Given the description of an element on the screen output the (x, y) to click on. 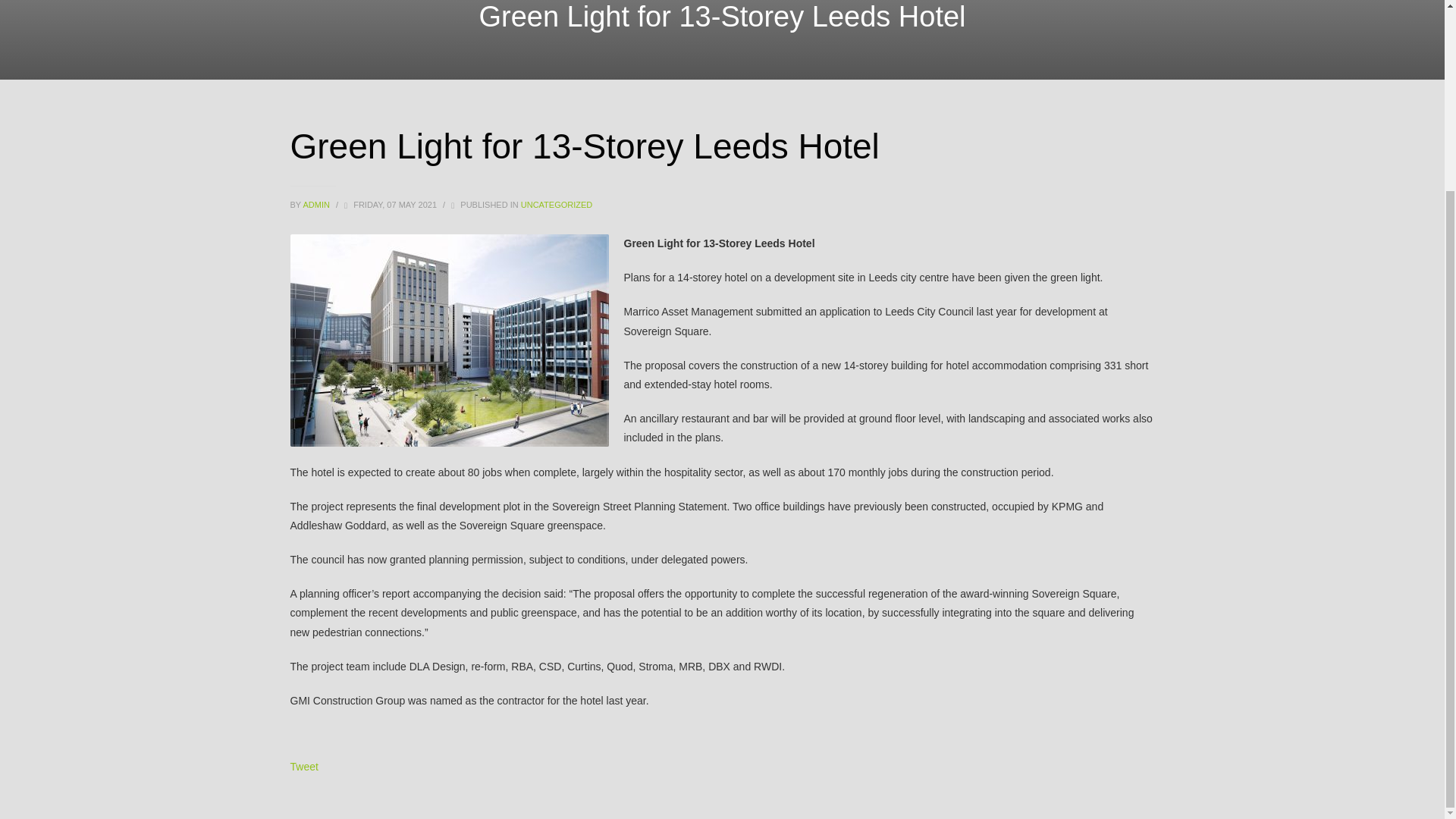
UNCATEGORIZED (556, 204)
ADMIN (316, 204)
Tweet (303, 766)
